Given the description of an element on the screen output the (x, y) to click on. 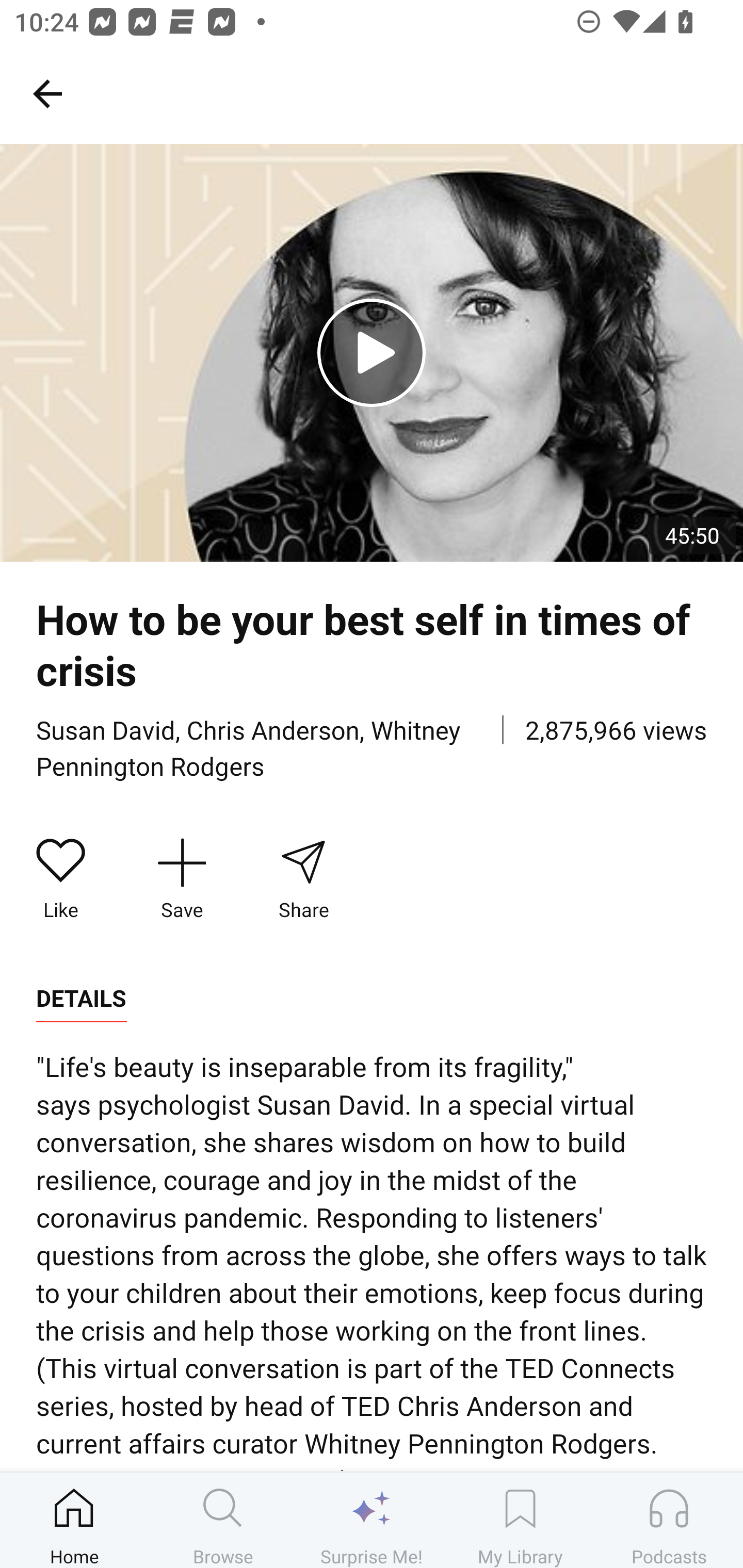
Go back (47, 92)
Like (60, 879)
Save (181, 879)
Share (302, 879)
DETAILS (80, 998)
Home (74, 1520)
Browse (222, 1520)
Surprise Me! (371, 1520)
My Library (519, 1520)
Podcasts (668, 1520)
